Given the description of an element on the screen output the (x, y) to click on. 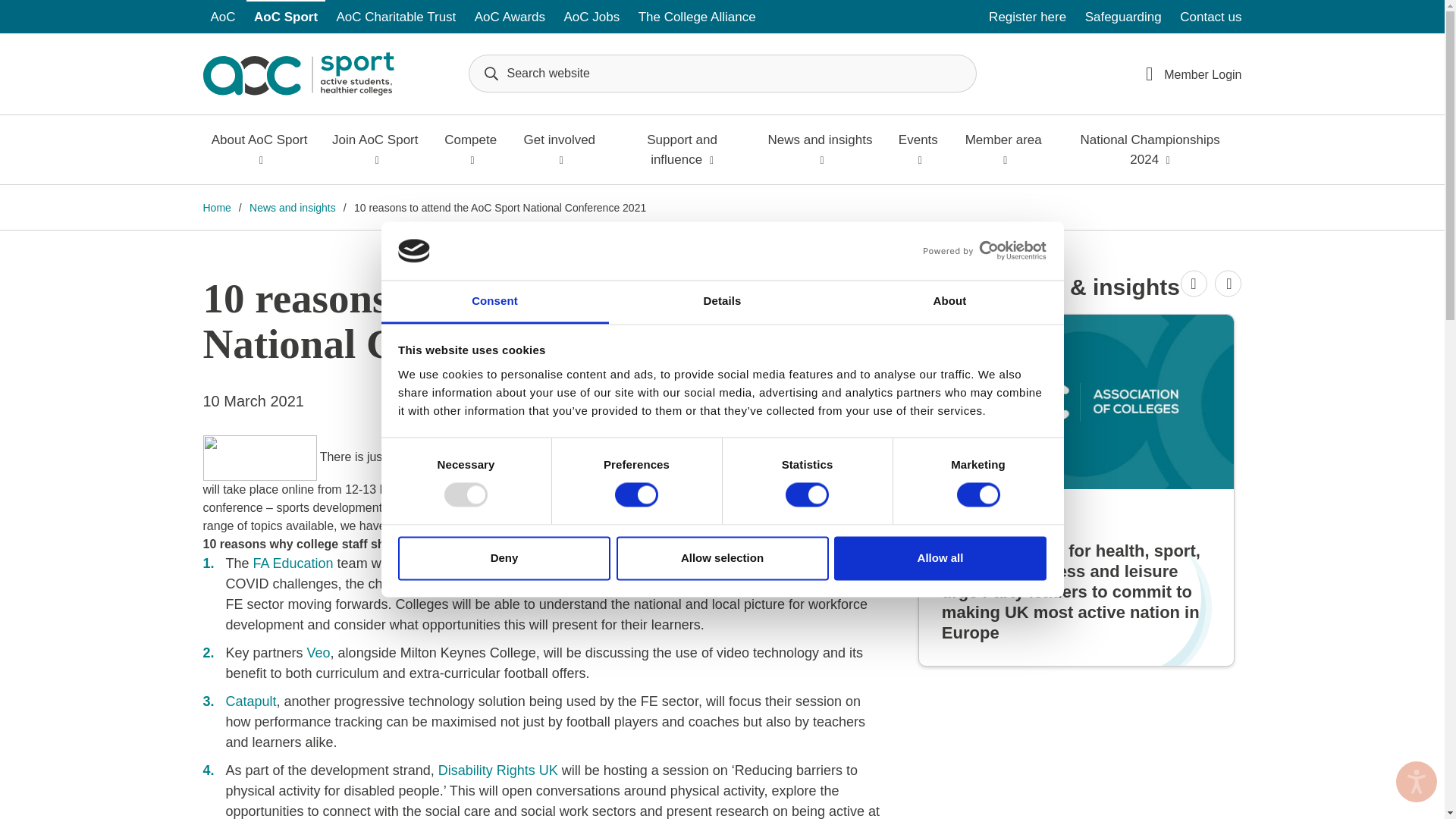
About (948, 301)
Listen with the ReachDeck Toolbar (1416, 781)
Consent (494, 301)
Details (721, 301)
